Given the description of an element on the screen output the (x, y) to click on. 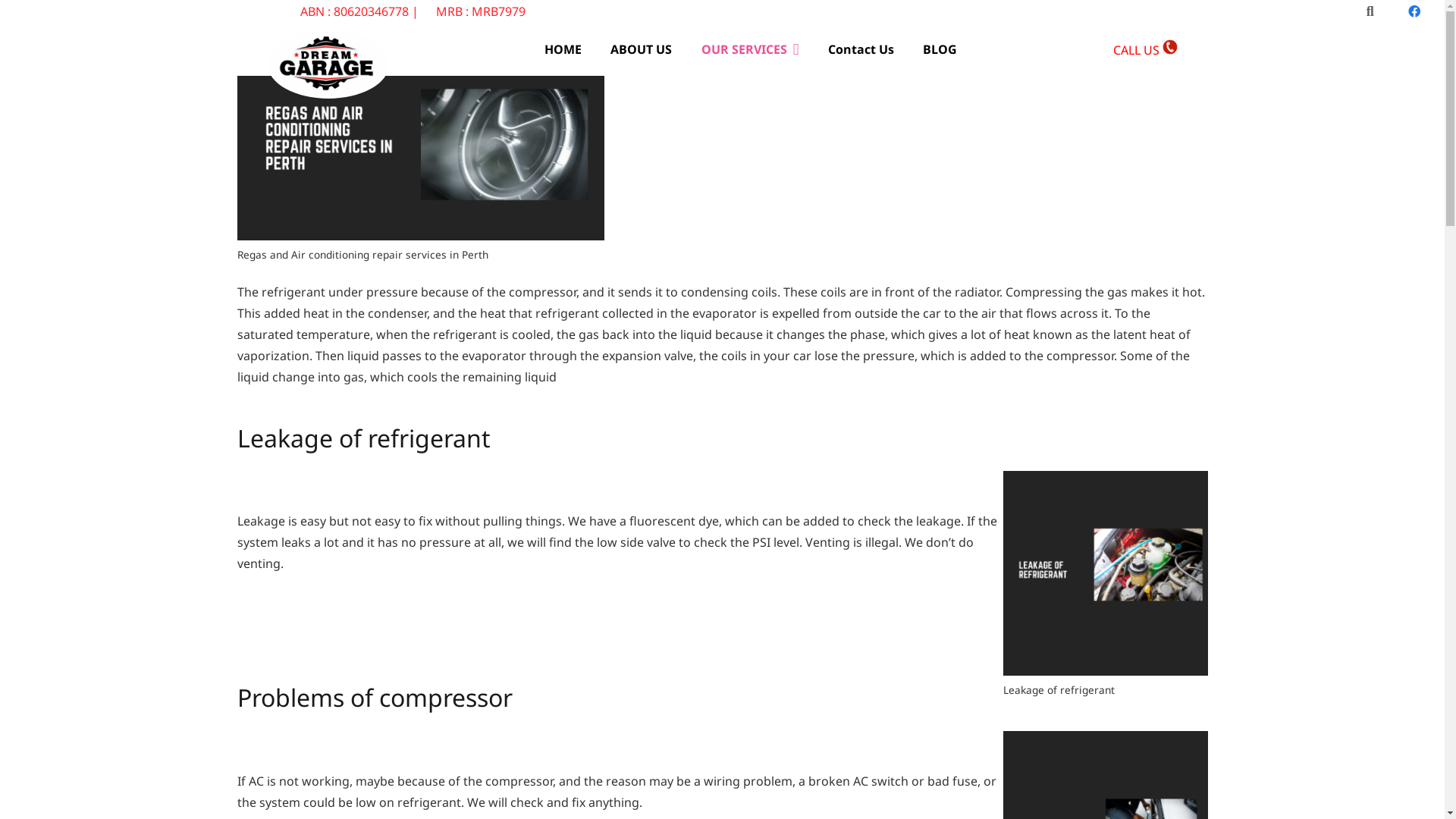
OUR SERVICES Element type: text (749, 49)
BLOG Element type: text (939, 49)
ABOUT US Element type: text (641, 49)
Contact Us Element type: text (860, 49)
HOME Element type: text (563, 49)
